Given the description of an element on the screen output the (x, y) to click on. 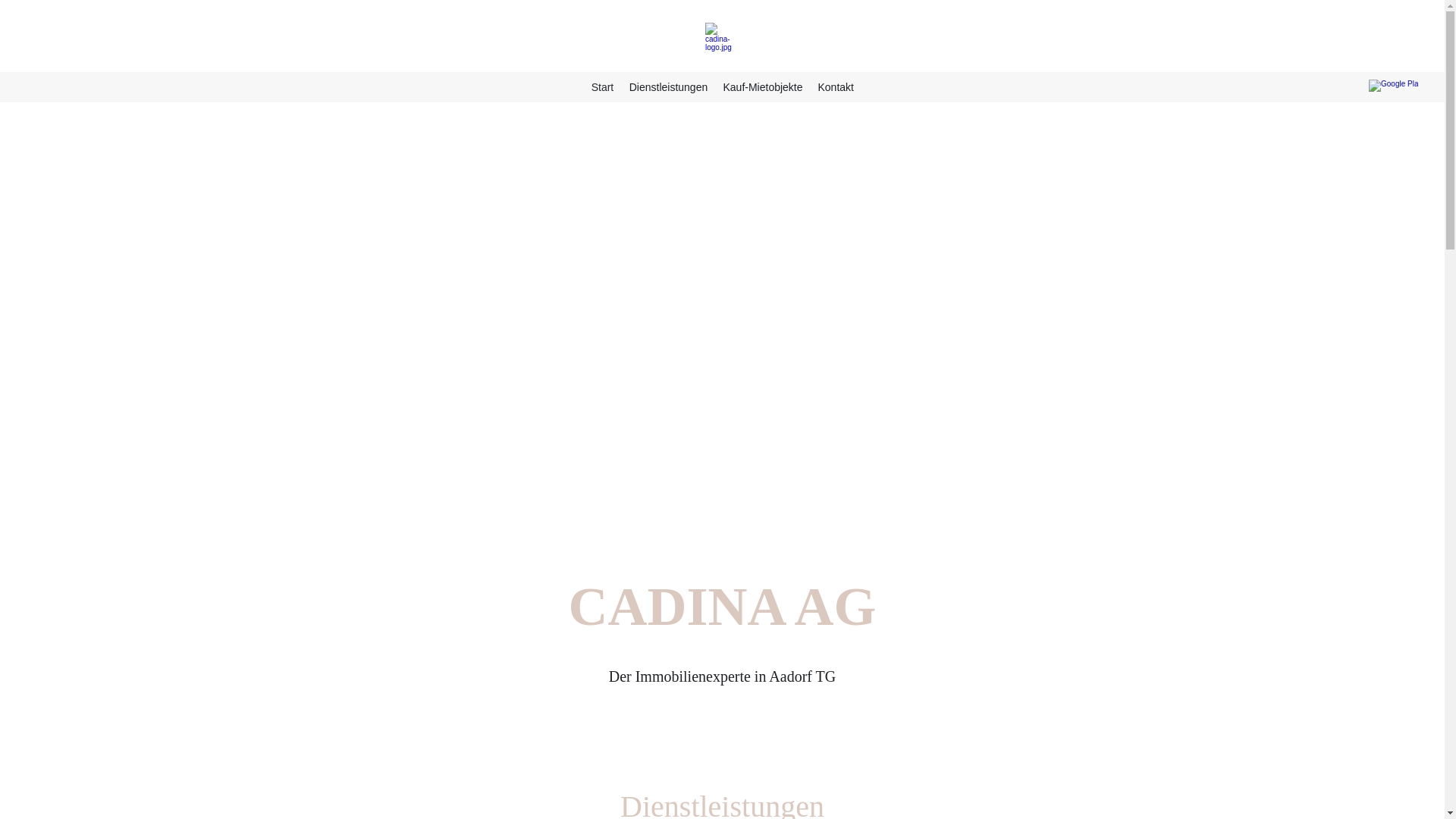
Start Element type: text (602, 86)
Kauf-Mietobjekte Element type: text (762, 86)
Kontakt Element type: text (834, 86)
Dienstleistungen Element type: text (668, 86)
